Given the description of an element on the screen output the (x, y) to click on. 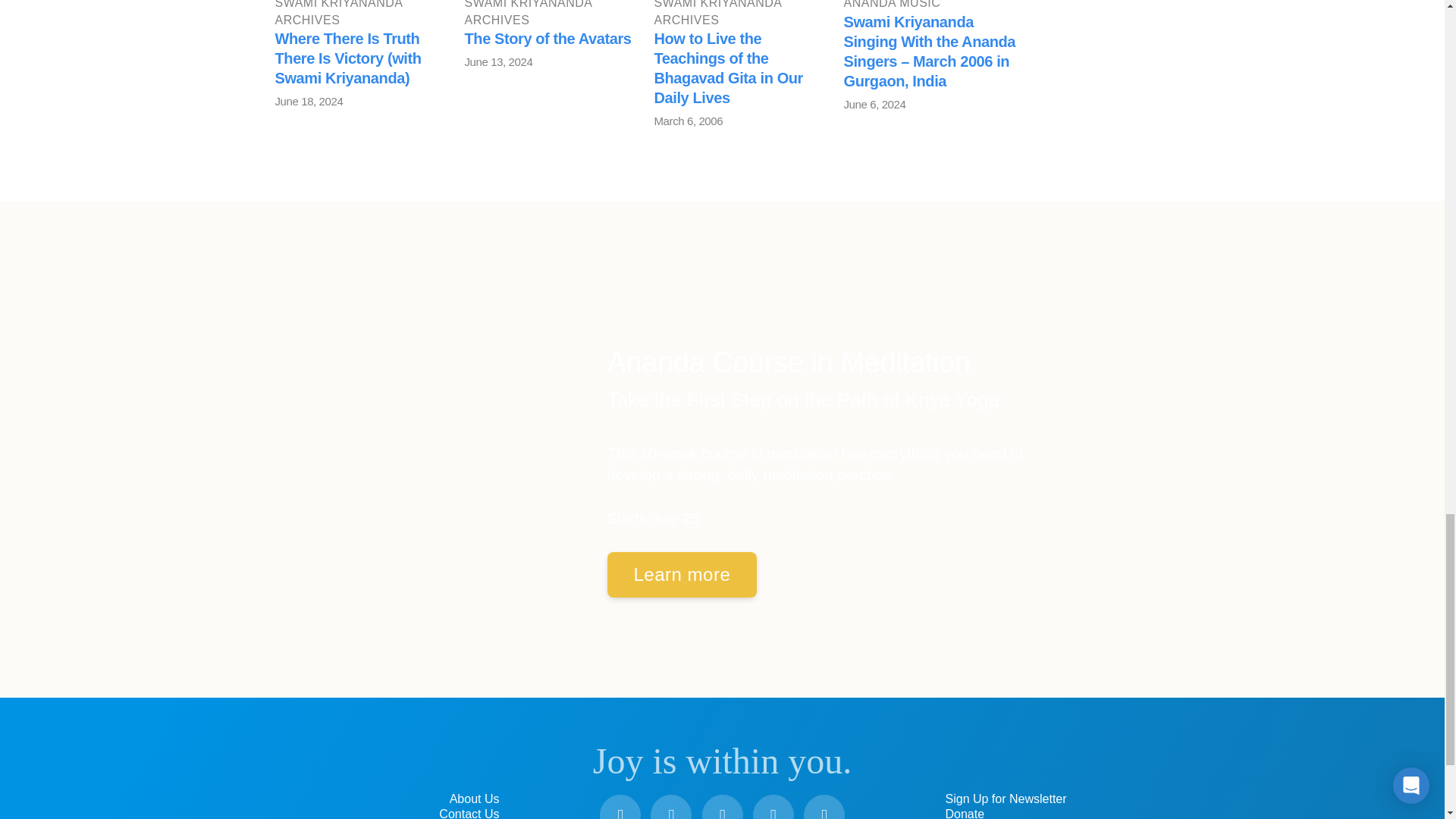
Pinterest (772, 806)
Instagram (721, 806)
RSS (823, 806)
YouTube (670, 806)
Facebook (619, 806)
